Given the description of an element on the screen output the (x, y) to click on. 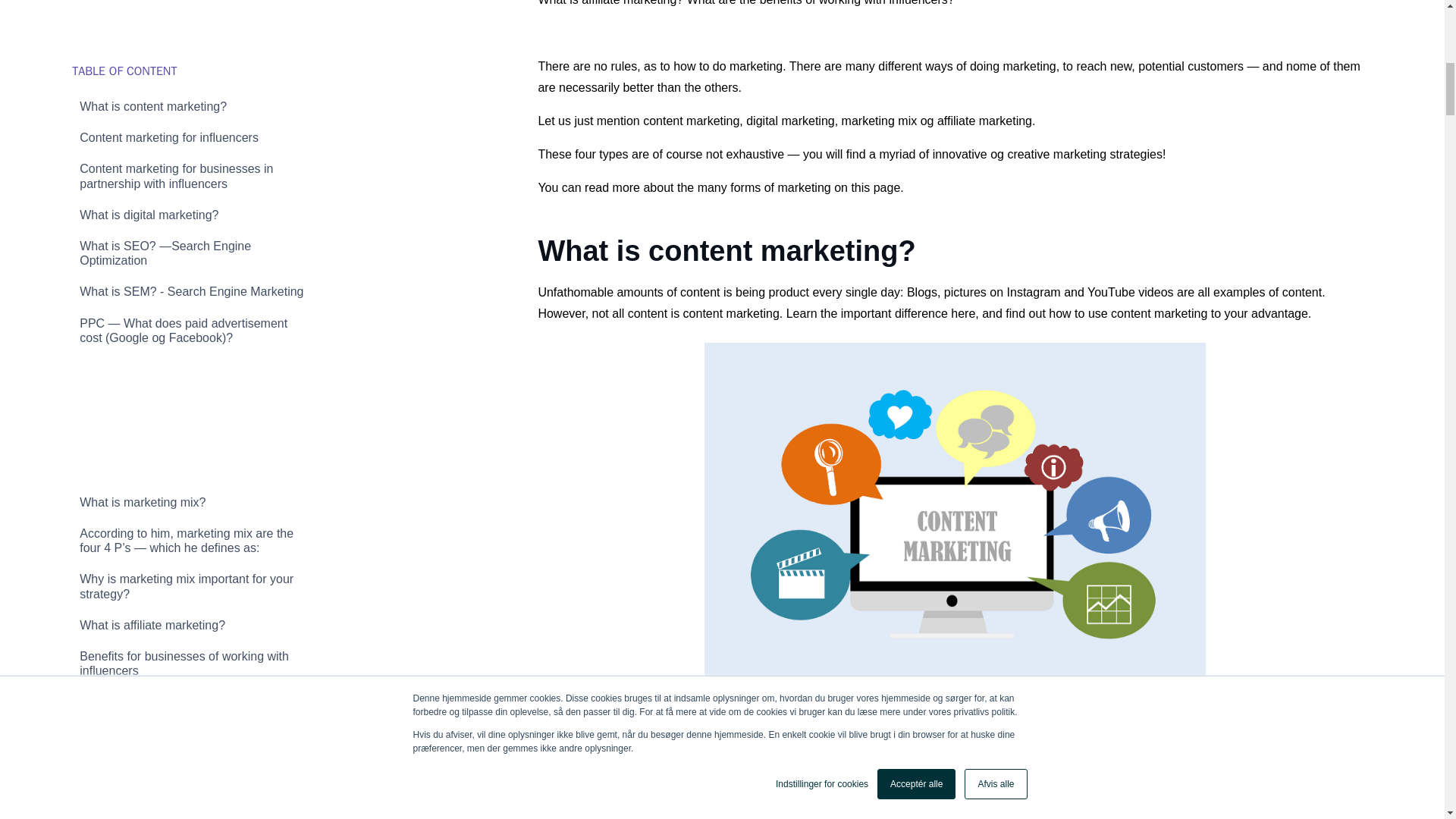
What is SEM? - Search Engine Marketing (192, 25)
Subscribe (192, 620)
